Given the description of an element on the screen output the (x, y) to click on. 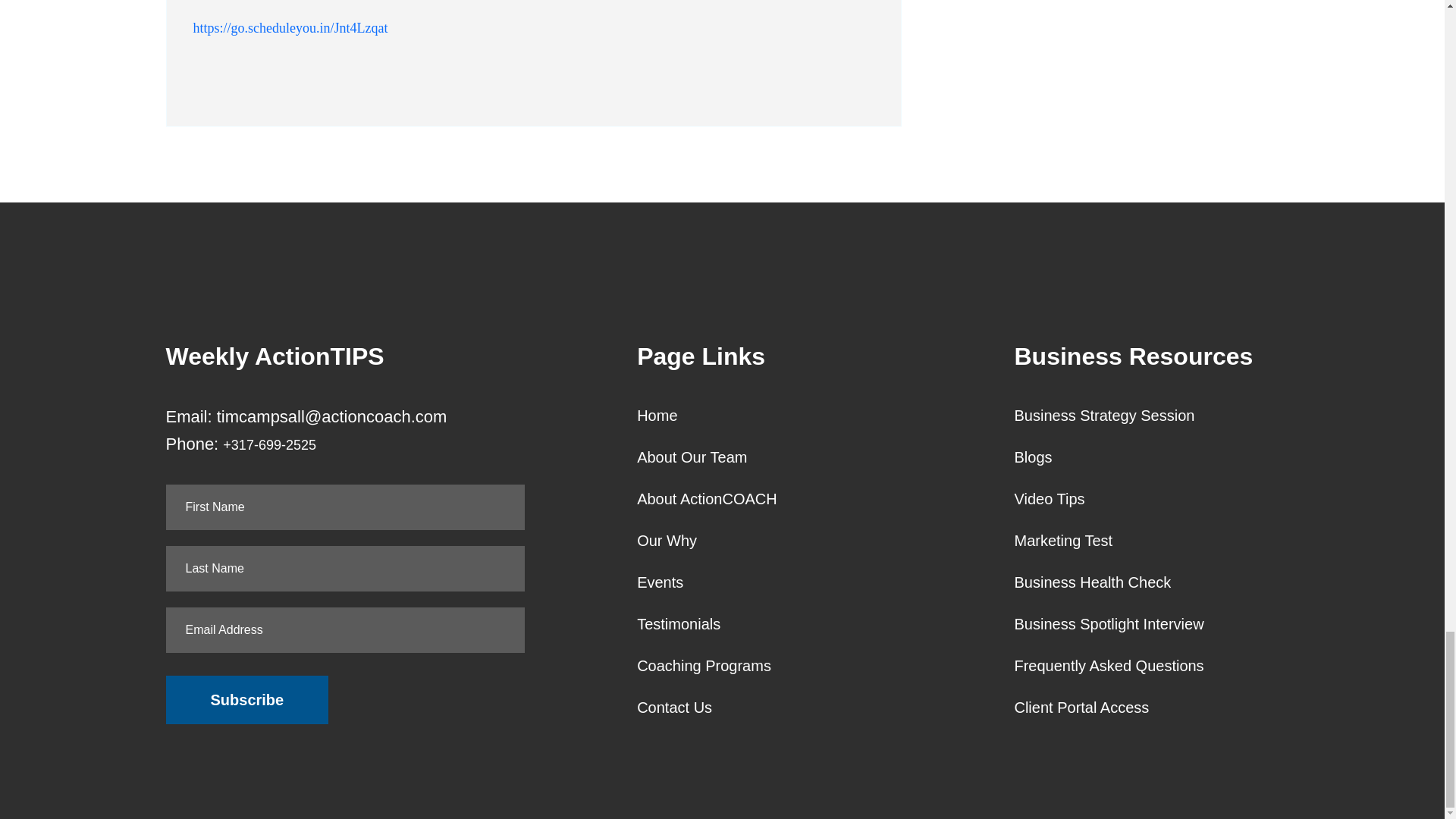
Subscribe (247, 699)
